Given the description of an element on the screen output the (x, y) to click on. 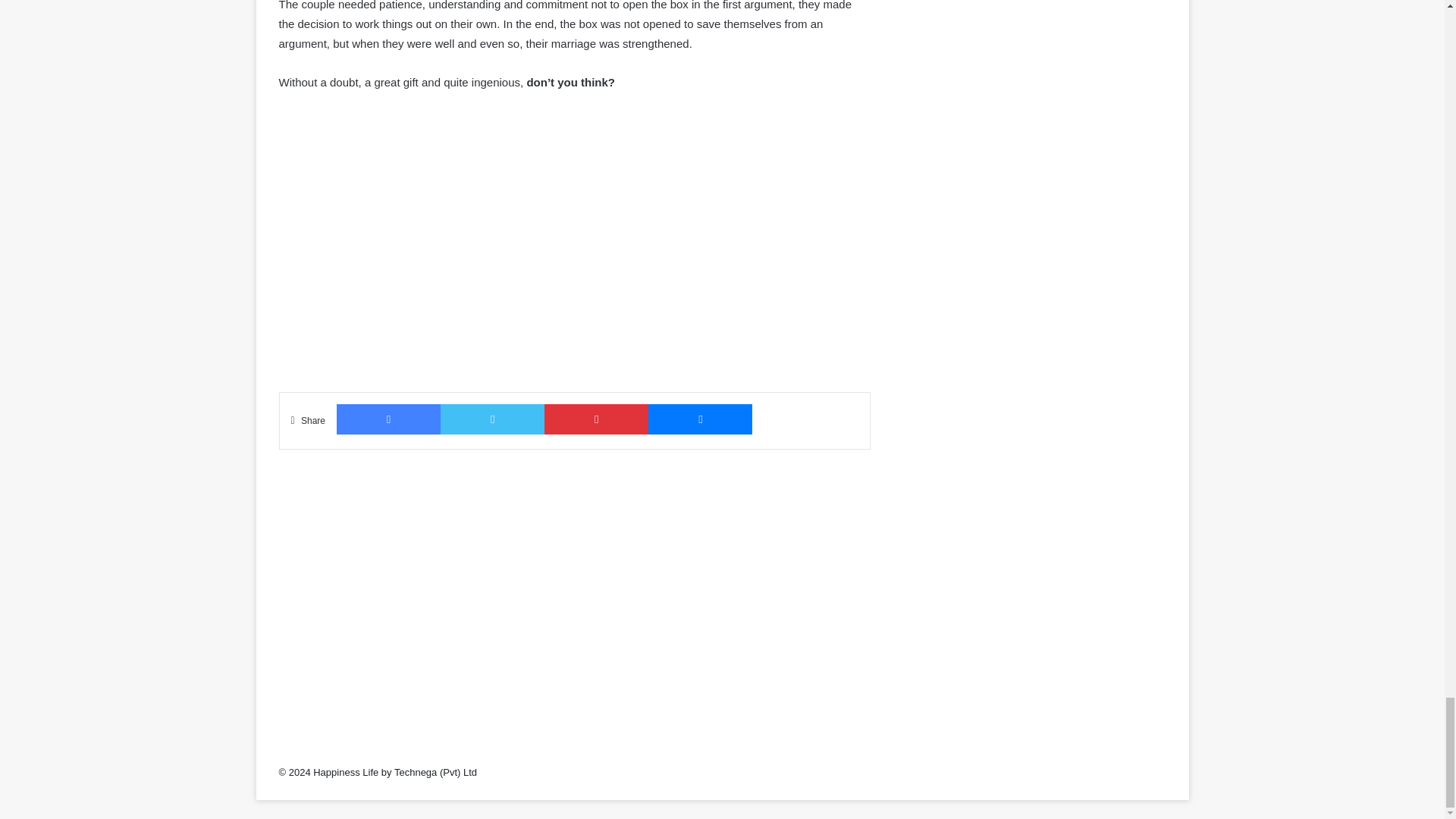
Pinterest (595, 419)
Twitter (492, 419)
Facebook (388, 419)
